Given the description of an element on the screen output the (x, y) to click on. 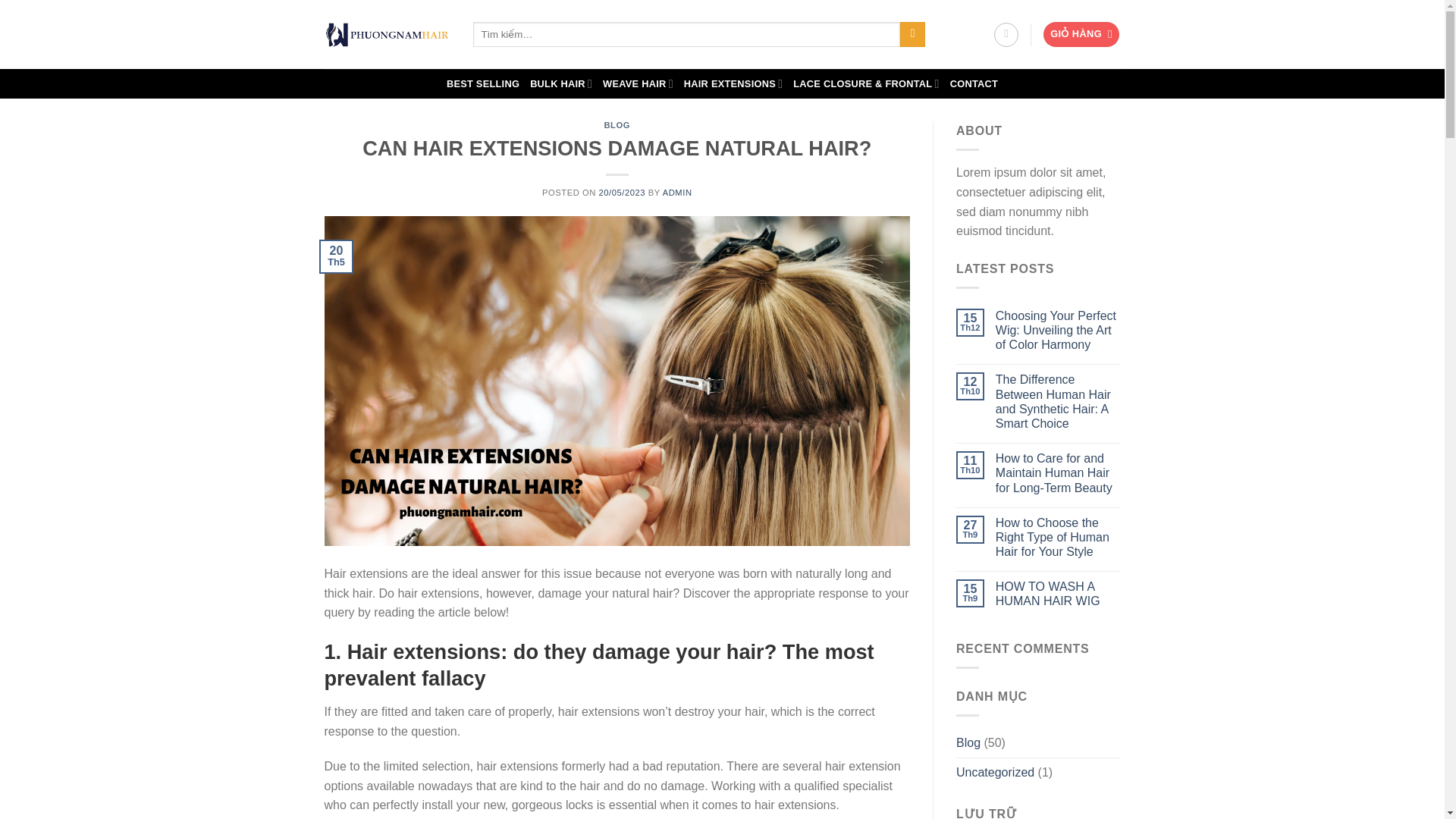
ADMIN (677, 192)
BLOG (617, 124)
How to Care for and Maintain Human Hair for Long-Term Beauty (1058, 473)
HAIR EXTENSIONS (733, 83)
WEAVE HAIR (637, 83)
CONTACT (973, 83)
BEST SELLING (482, 83)
BULK HAIR (560, 83)
How to Choose the Right Type of Human Hair for Your Style (1058, 537)
HOW TO WASH A HUMAN HAIR WIG (1058, 593)
